Given the description of an element on the screen output the (x, y) to click on. 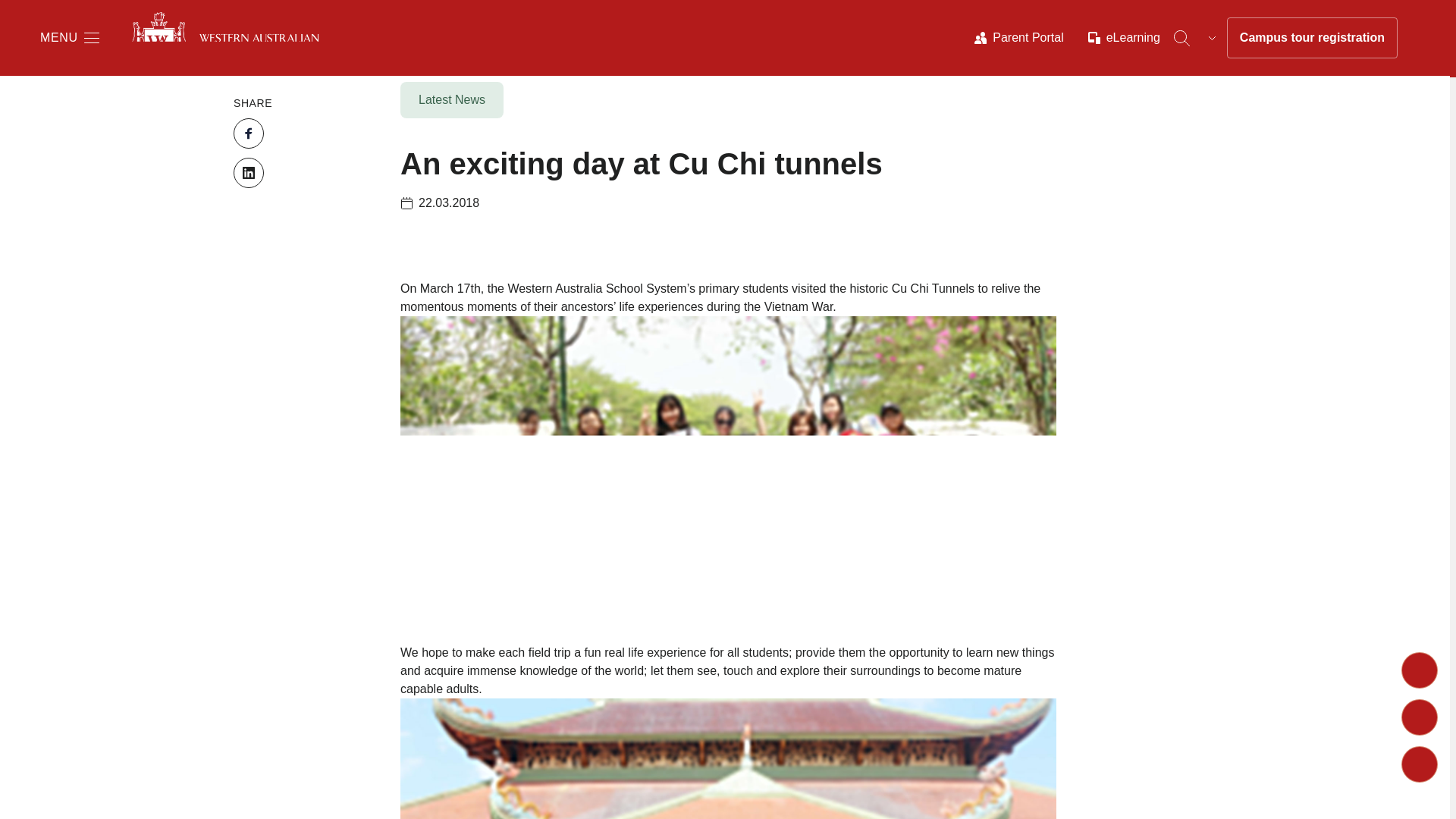
Parent Portal (1018, 37)
MENU (69, 37)
Campus tour registration (1312, 37)
Latest News (454, 102)
eLearning (1123, 37)
